Given the description of an element on the screen output the (x, y) to click on. 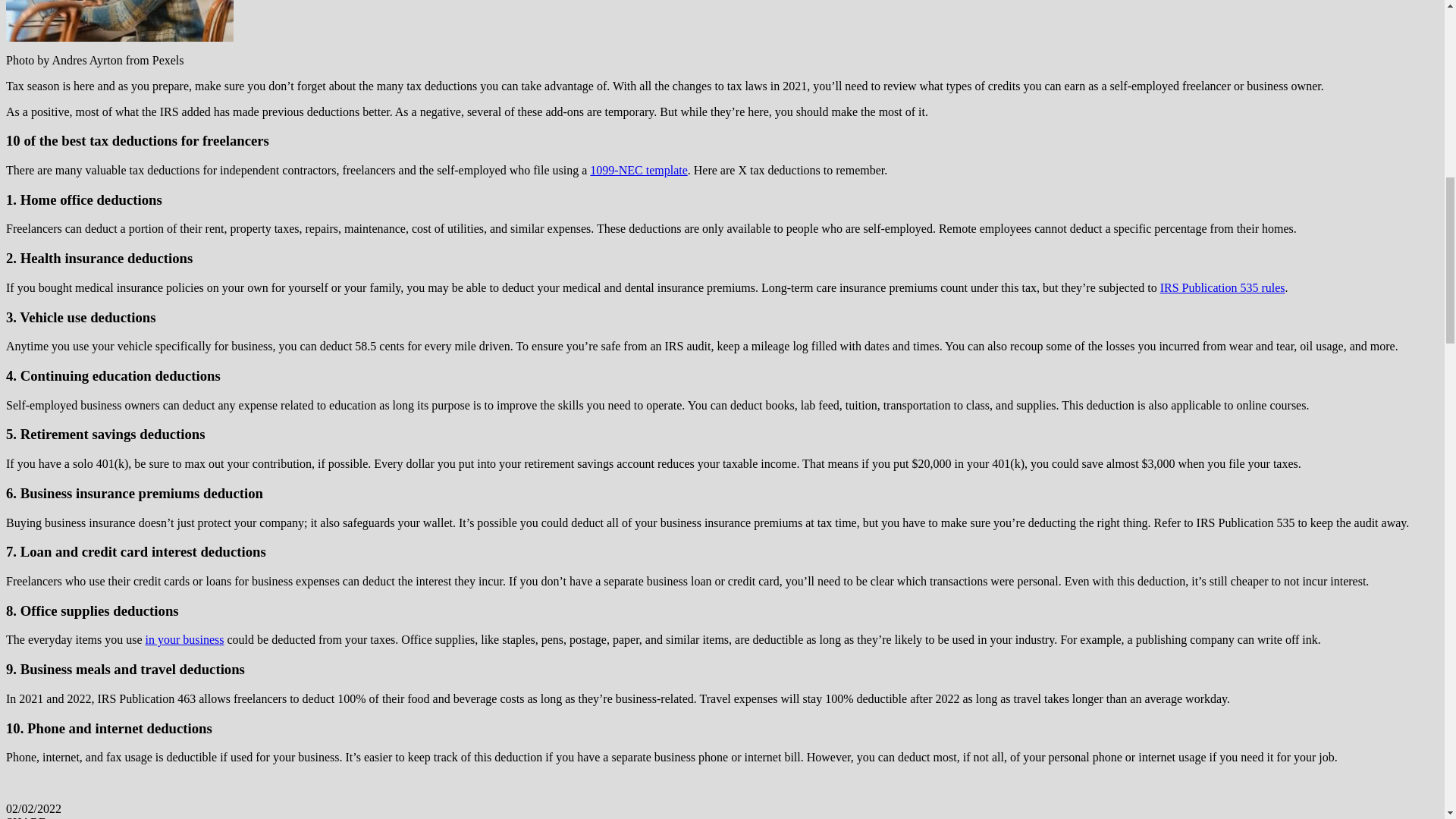
in your business (184, 639)
IRS Publication 535 rules (1222, 287)
1099-NEC template (638, 169)
